Given the description of an element on the screen output the (x, y) to click on. 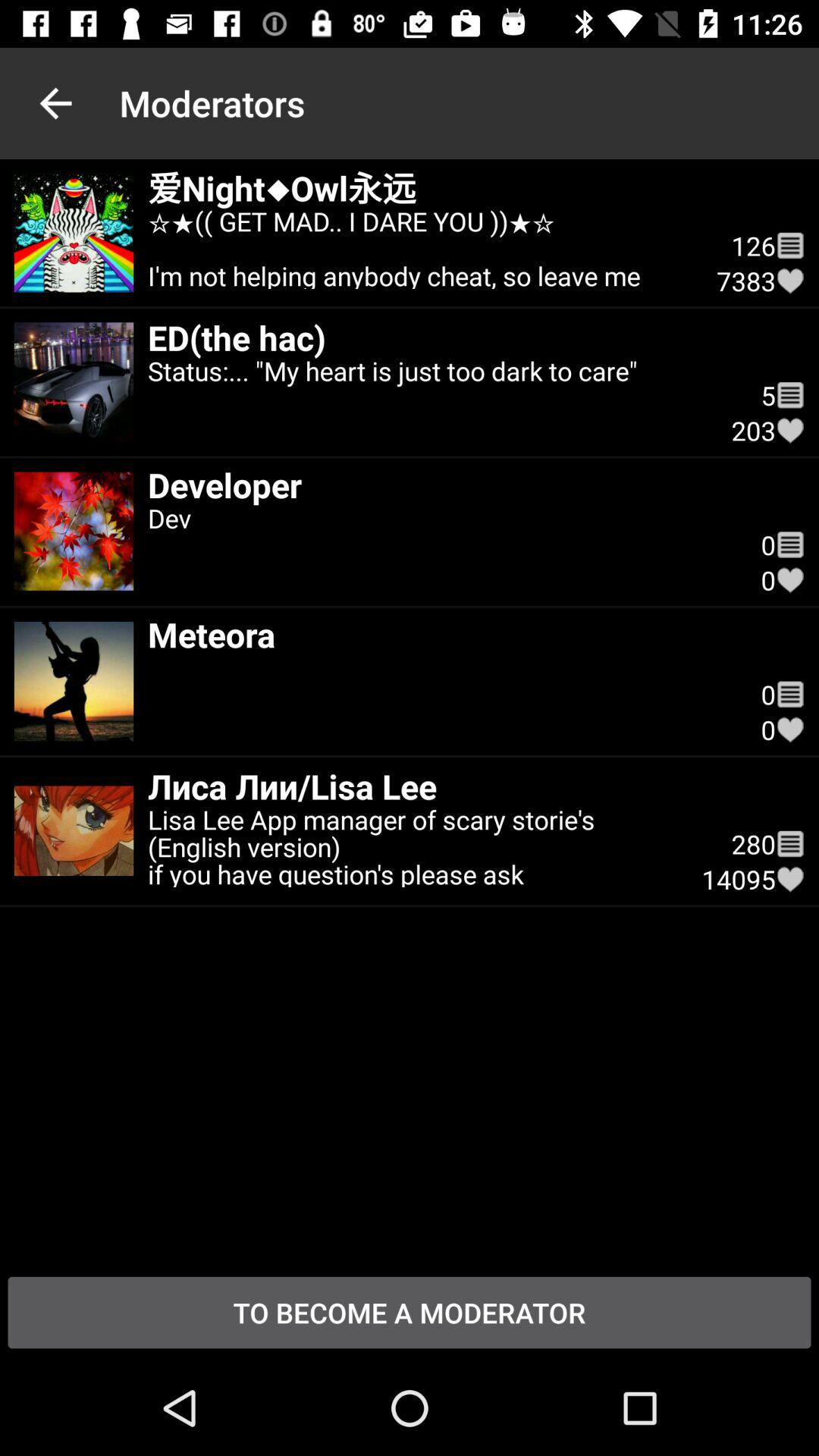
click the item to the right of 280 (789, 879)
